Given the description of an element on the screen output the (x, y) to click on. 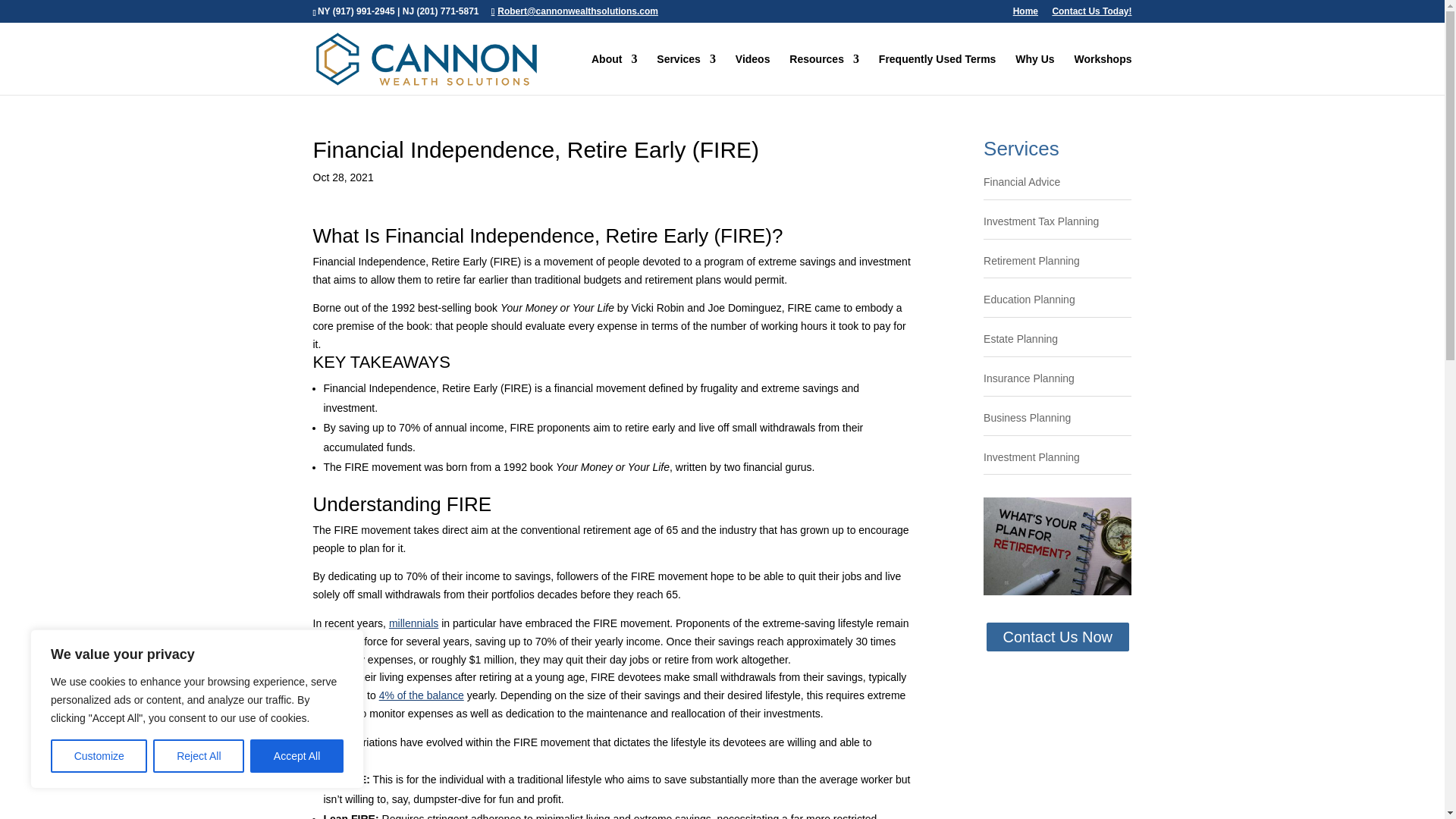
Customize (98, 756)
Contact Us Today! (1091, 14)
Workshops (1103, 74)
Reject All (198, 756)
Frequently Used Terms (937, 74)
Why Us (1034, 74)
Services (686, 74)
Home (1025, 14)
Resources (824, 74)
About (614, 74)
Accept All (296, 756)
